Given the description of an element on the screen output the (x, y) to click on. 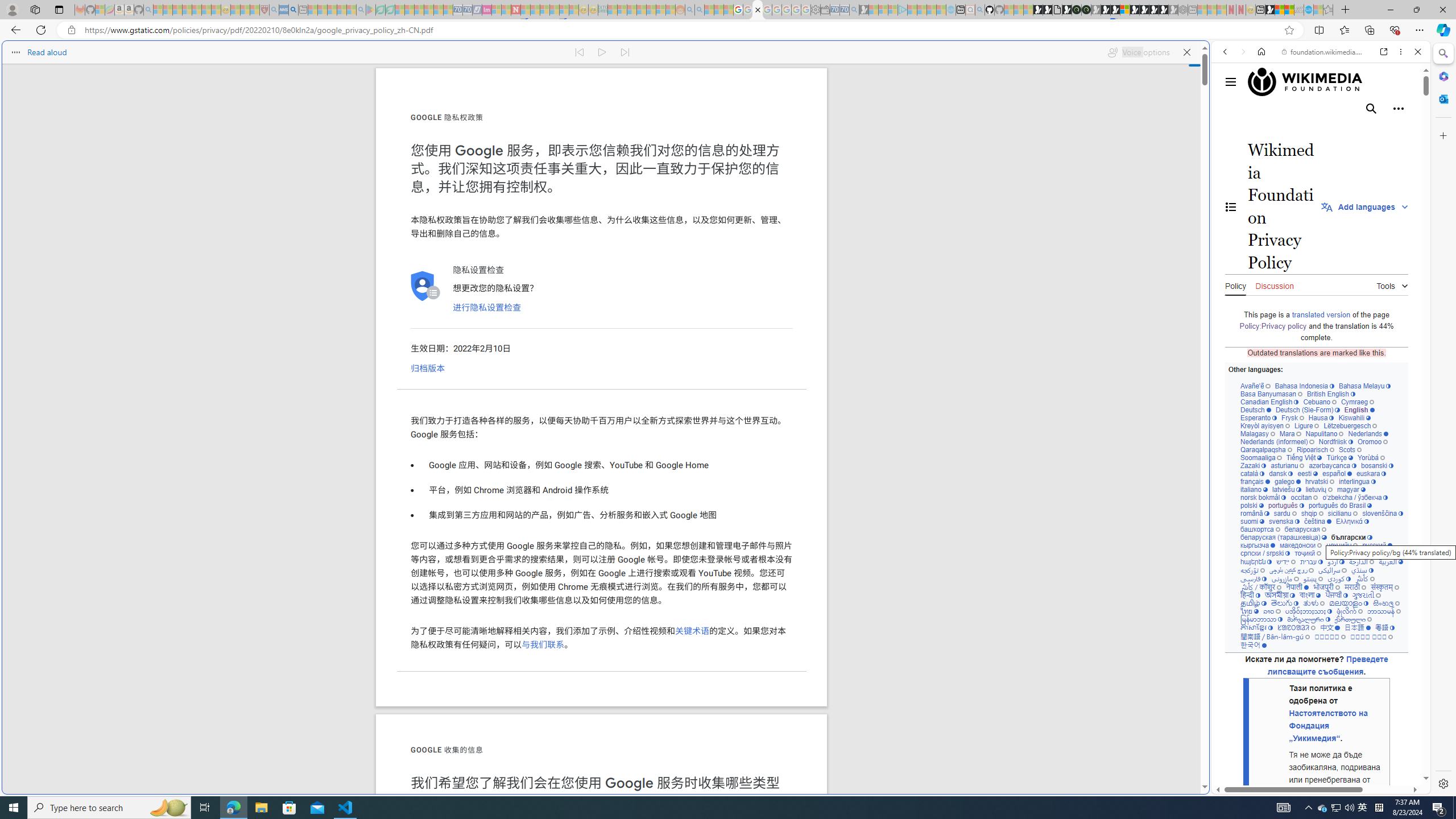
Scots (1350, 449)
Bahasa Indonesia (1303, 385)
sicilianu (1342, 513)
Basa Banyumasan (1271, 393)
